Given the description of an element on the screen output the (x, y) to click on. 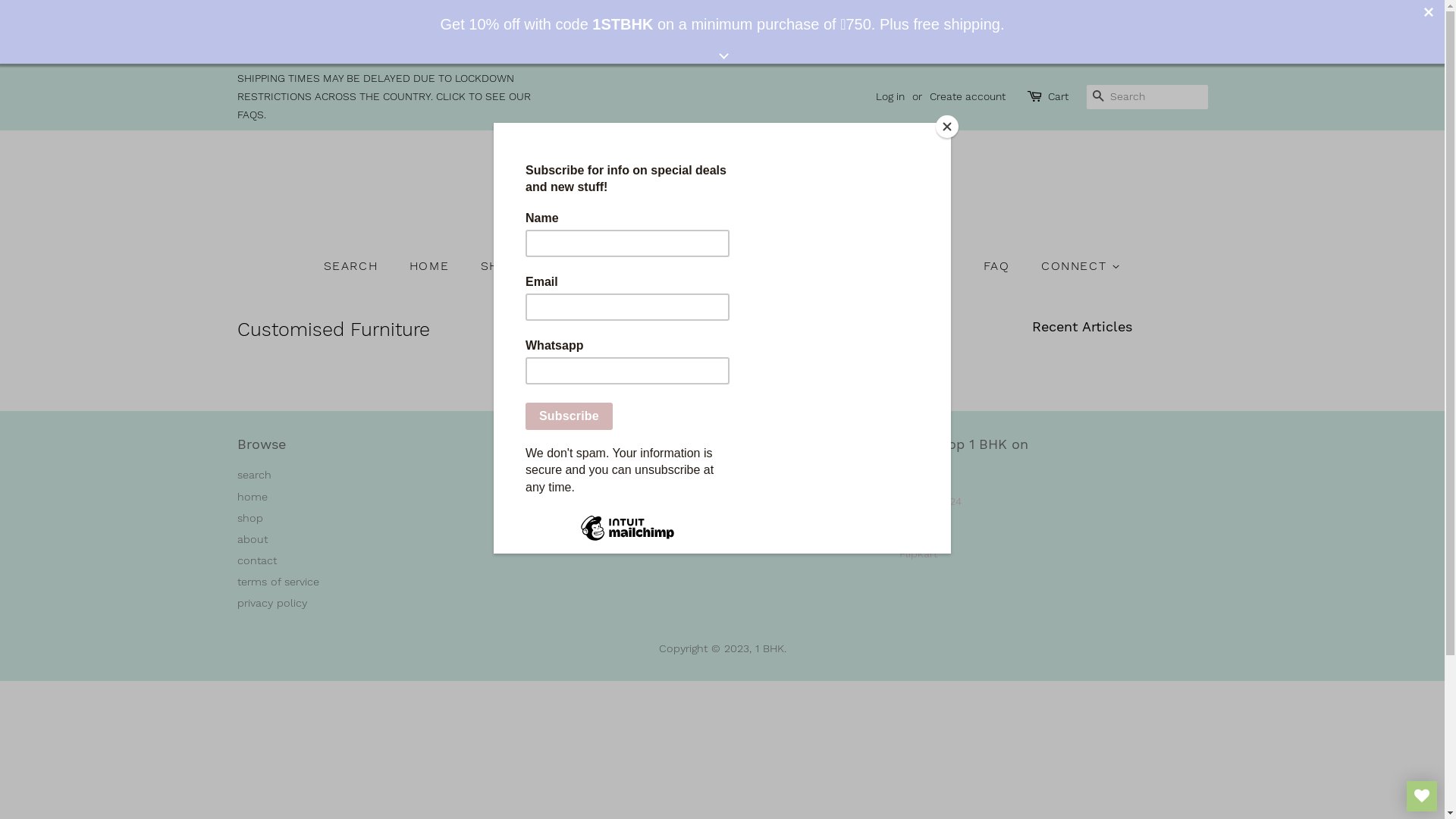
CONNECT Element type: text (1074, 265)
Facebook Element type: text (655, 479)
privacy policy Element type: text (271, 602)
FAQ Element type: text (998, 265)
YouTube Element type: text (740, 479)
contact Element type: text (256, 560)
MY WISHLIST Element type: text (1421, 796)
Log in Element type: text (889, 84)
MARKETPLACES Element type: text (784, 265)
terms of service Element type: text (277, 581)
1 BHK Element type: text (769, 648)
search Element type: text (253, 474)
LBB Element type: text (909, 527)
propshop24 Element type: text (930, 501)
home Element type: text (251, 496)
Amazon Element type: text (920, 474)
SHOP Element type: text (508, 265)
ABOUT Element type: text (588, 265)
POLICIES Element type: text (914, 265)
SEARCH Element type: text (358, 265)
Instagram Element type: text (711, 479)
shop Element type: text (249, 517)
SEARCH Element type: text (1097, 96)
BLOG Element type: text (667, 265)
about Element type: text (251, 539)
Pinterest Element type: text (683, 479)
HOME Element type: text (431, 265)
Create account Element type: text (967, 89)
Cart Element type: text (1058, 95)
Flipkart Element type: text (918, 553)
